Given the description of an element on the screen output the (x, y) to click on. 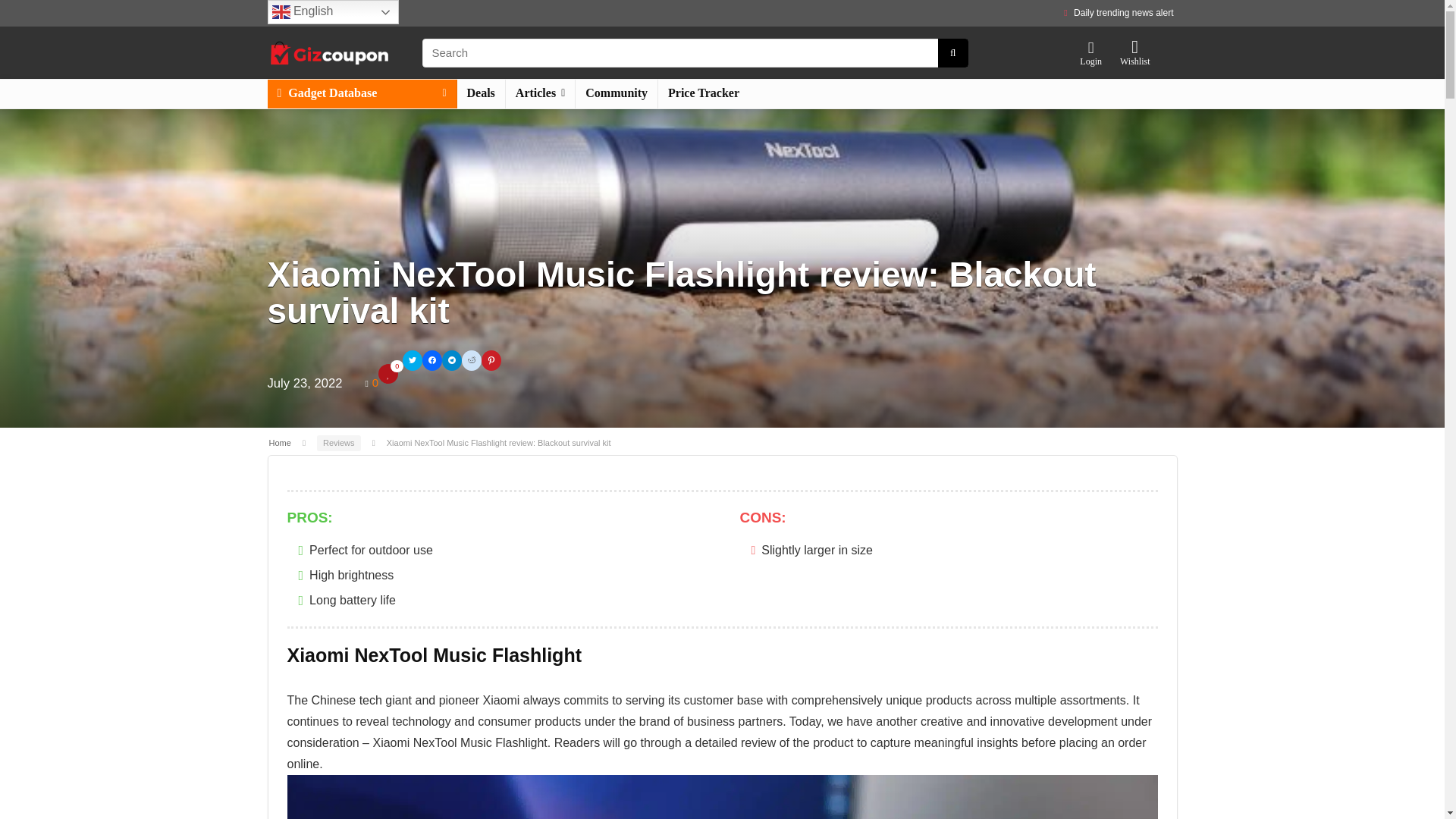
Gadget Database (360, 93)
English (331, 12)
Daily trending news alert (1123, 12)
